Given the description of an element on the screen output the (x, y) to click on. 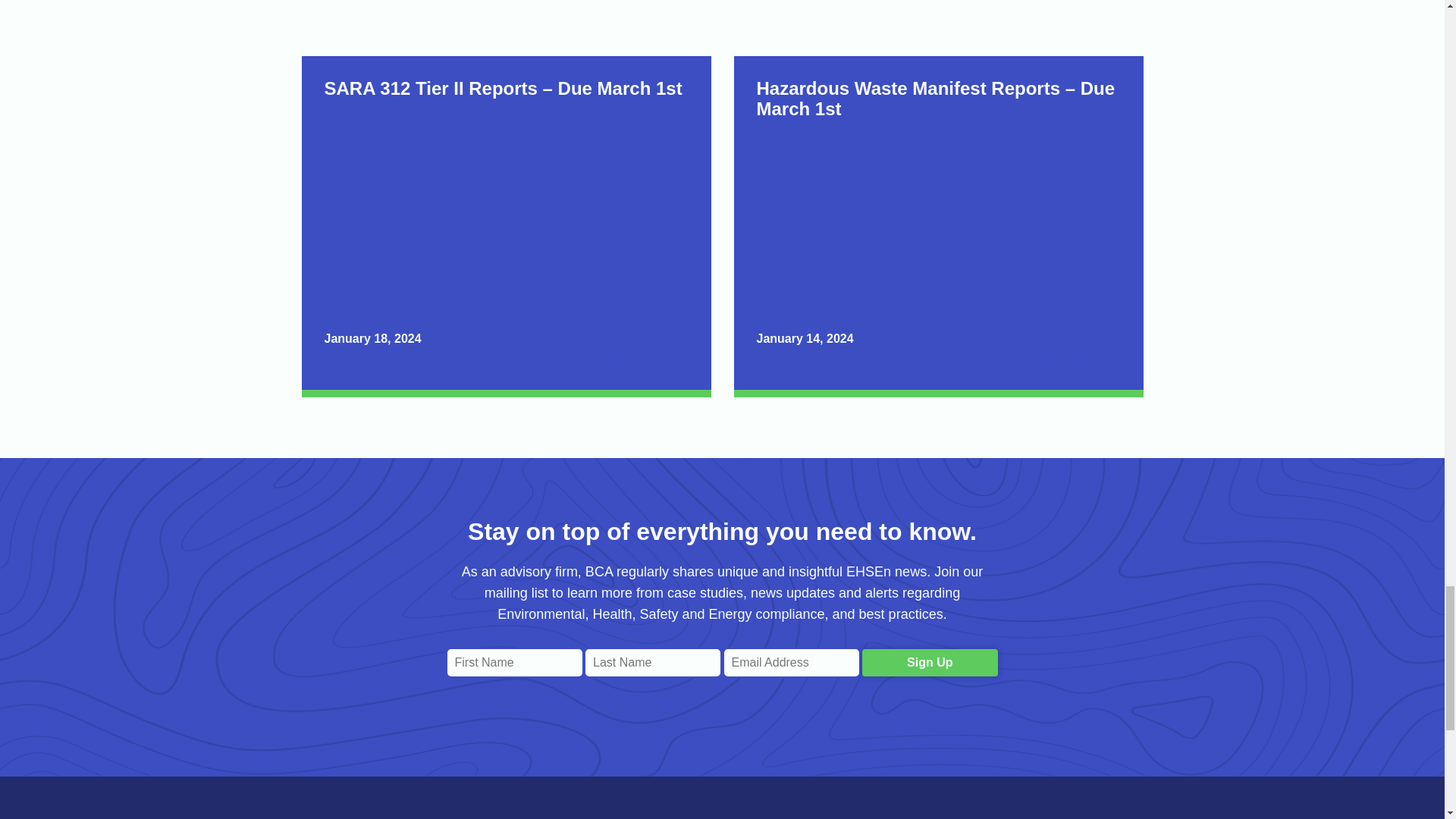
Sign Up (929, 662)
